Given the description of an element on the screen output the (x, y) to click on. 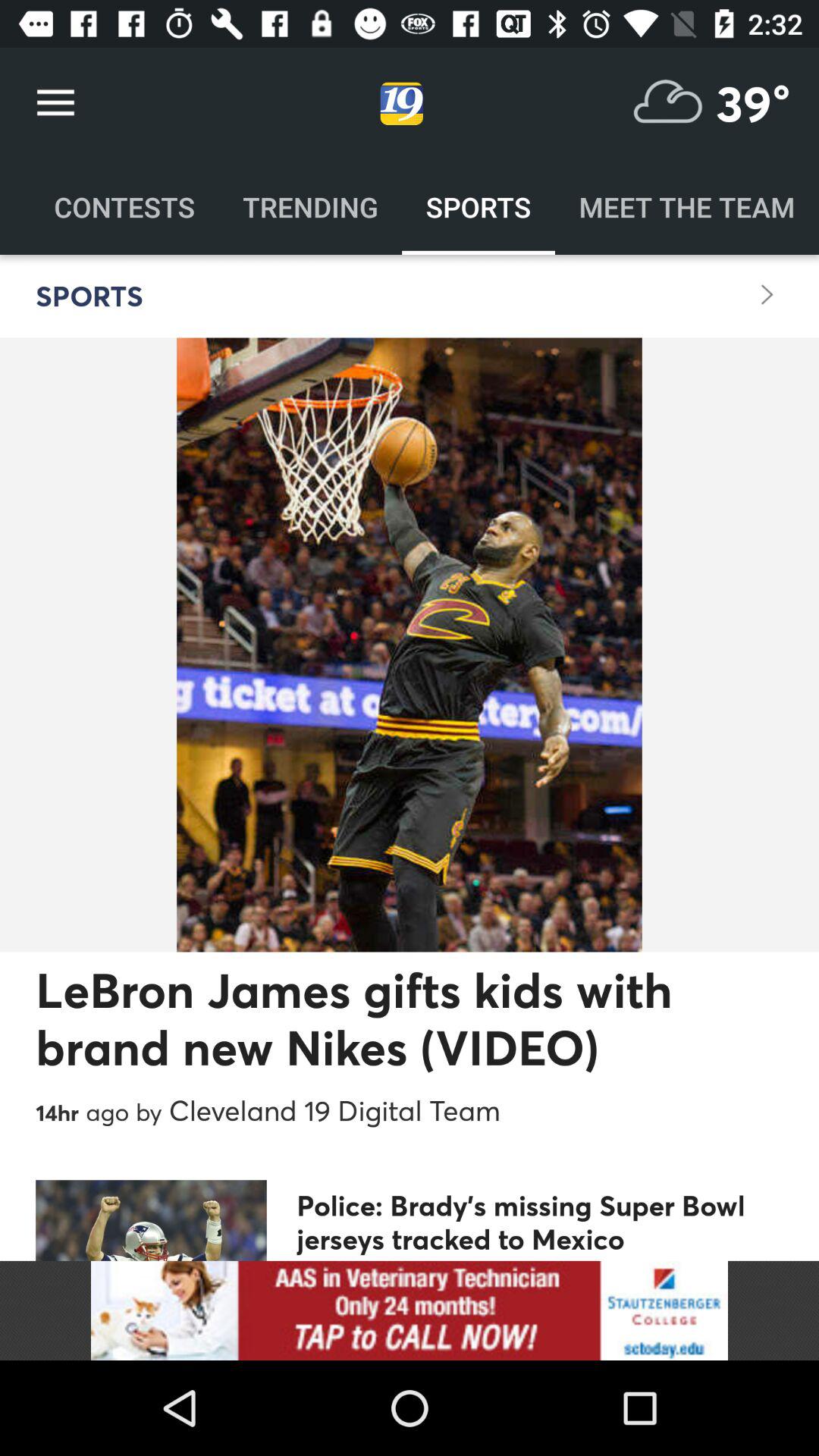
current weather (668, 103)
